Given the description of an element on the screen output the (x, y) to click on. 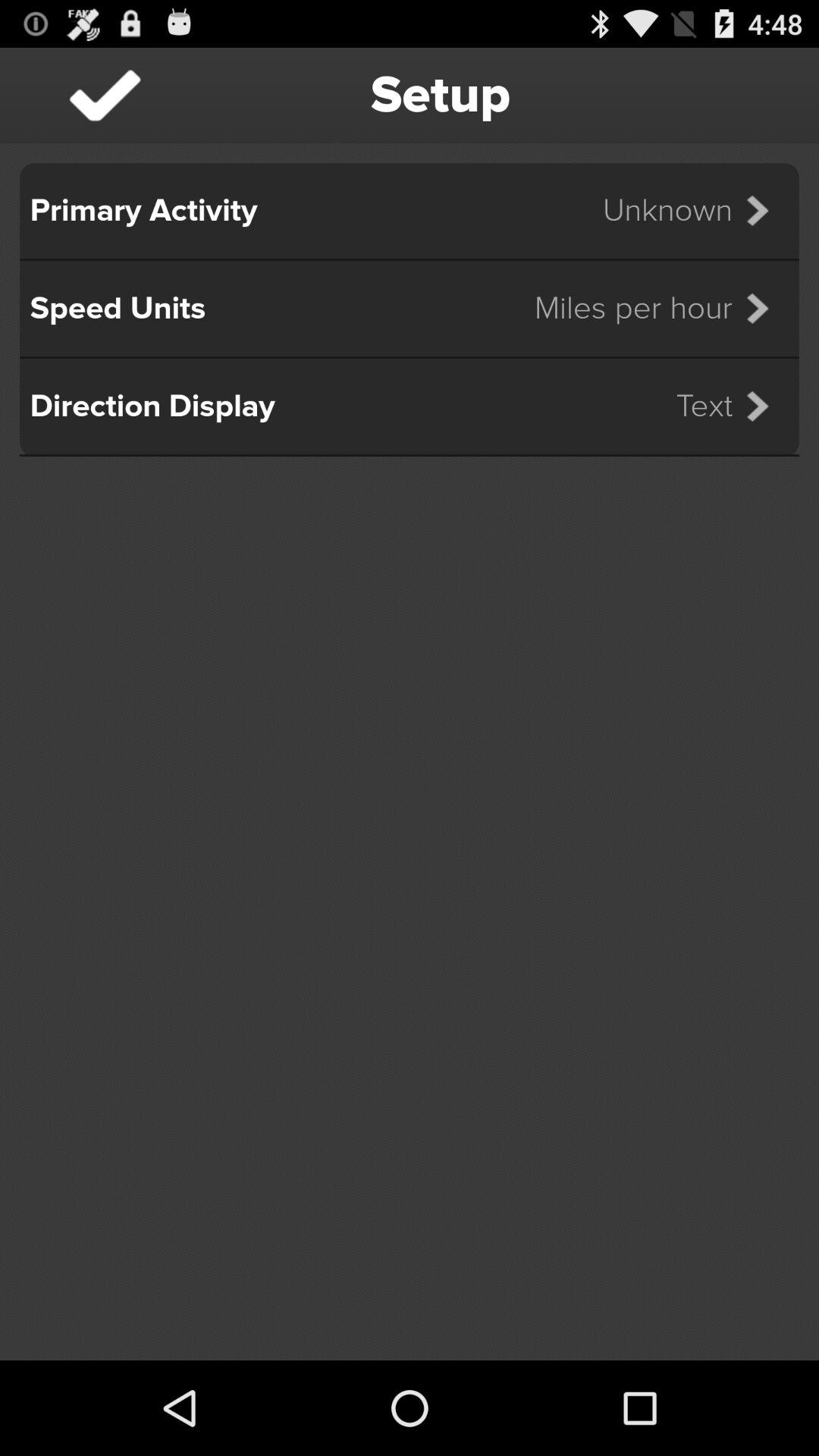
swipe until miles per hour icon (661, 308)
